Given the description of an element on the screen output the (x, y) to click on. 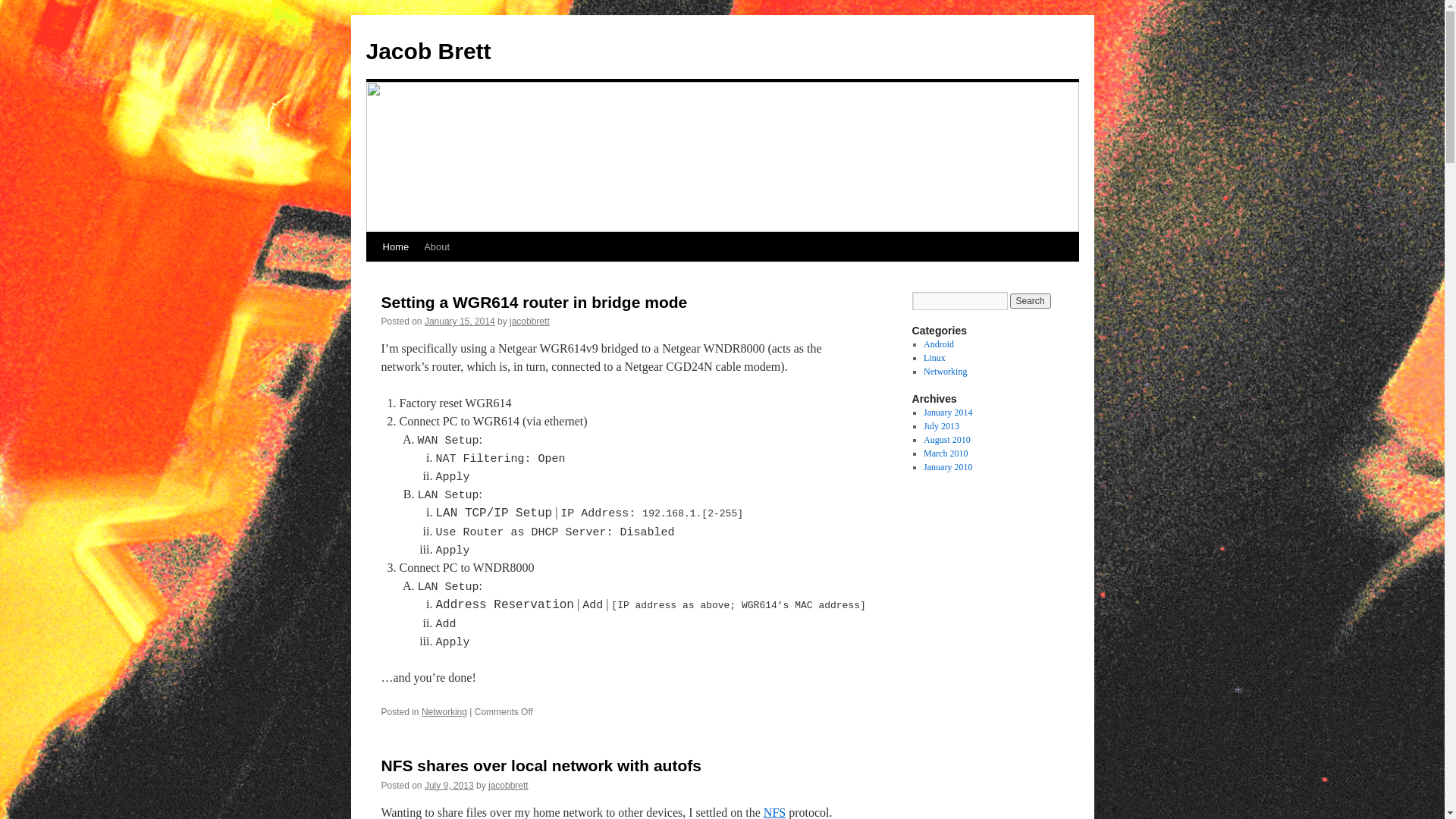
Jacob Brett Element type: text (427, 50)
July 2013 Element type: text (941, 425)
Networking Element type: text (444, 711)
January 2014 Element type: text (947, 412)
Search Element type: text (1030, 300)
Linux Element type: text (934, 357)
January 2010 Element type: text (947, 466)
Setting a WGR614 router in bridge mode Element type: text (533, 301)
jacobbrett Element type: text (529, 321)
July 9, 2013 Element type: text (448, 785)
January 15, 2014 Element type: text (459, 321)
jacobbrett Element type: text (508, 785)
March 2010 Element type: text (945, 453)
Skip to content Element type: text (372, 275)
August 2010 Element type: text (946, 439)
Home Element type: text (395, 246)
NFS shares over local network with autofs Element type: text (540, 765)
Android Element type: text (938, 343)
About Element type: text (436, 246)
Networking Element type: text (944, 371)
